Given the description of an element on the screen output the (x, y) to click on. 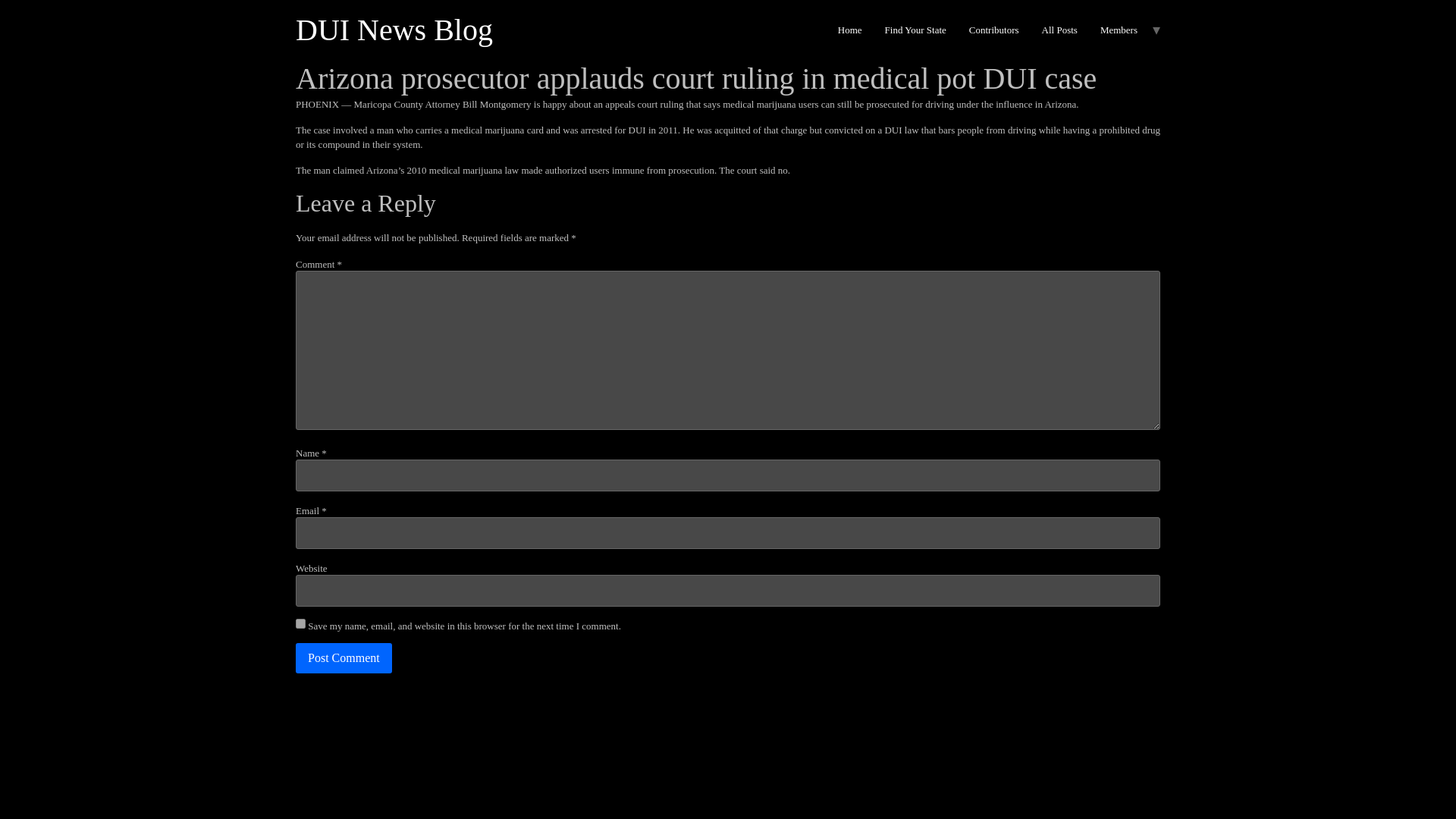
DUI News Blog (394, 29)
Home (850, 30)
Members (1118, 30)
Contributors (994, 30)
yes (300, 623)
Find Your State (915, 30)
All Posts (1059, 30)
Home (394, 29)
